Given the description of an element on the screen output the (x, y) to click on. 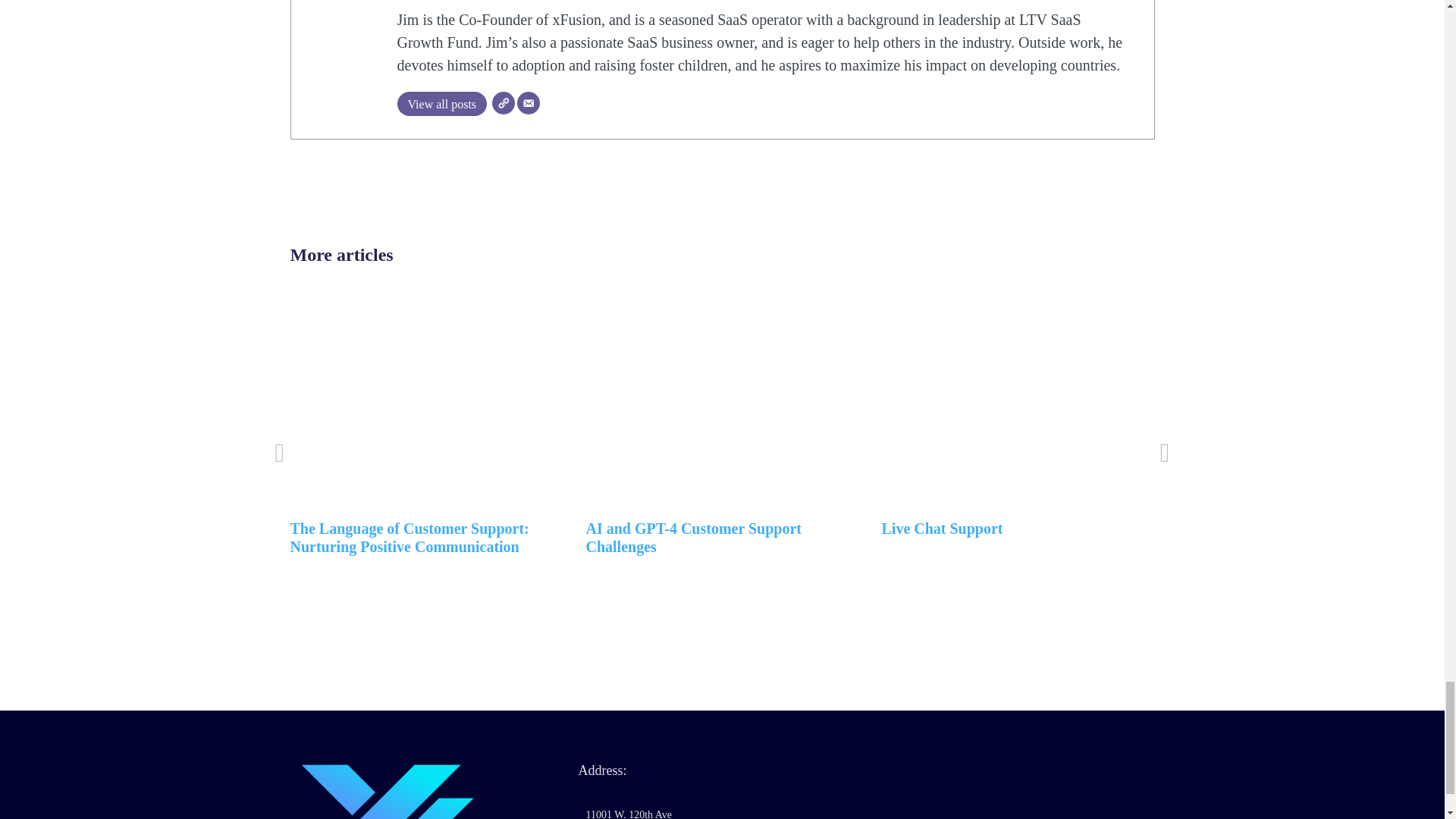
View all posts (442, 103)
View all posts (442, 103)
